Given the description of an element on the screen output the (x, y) to click on. 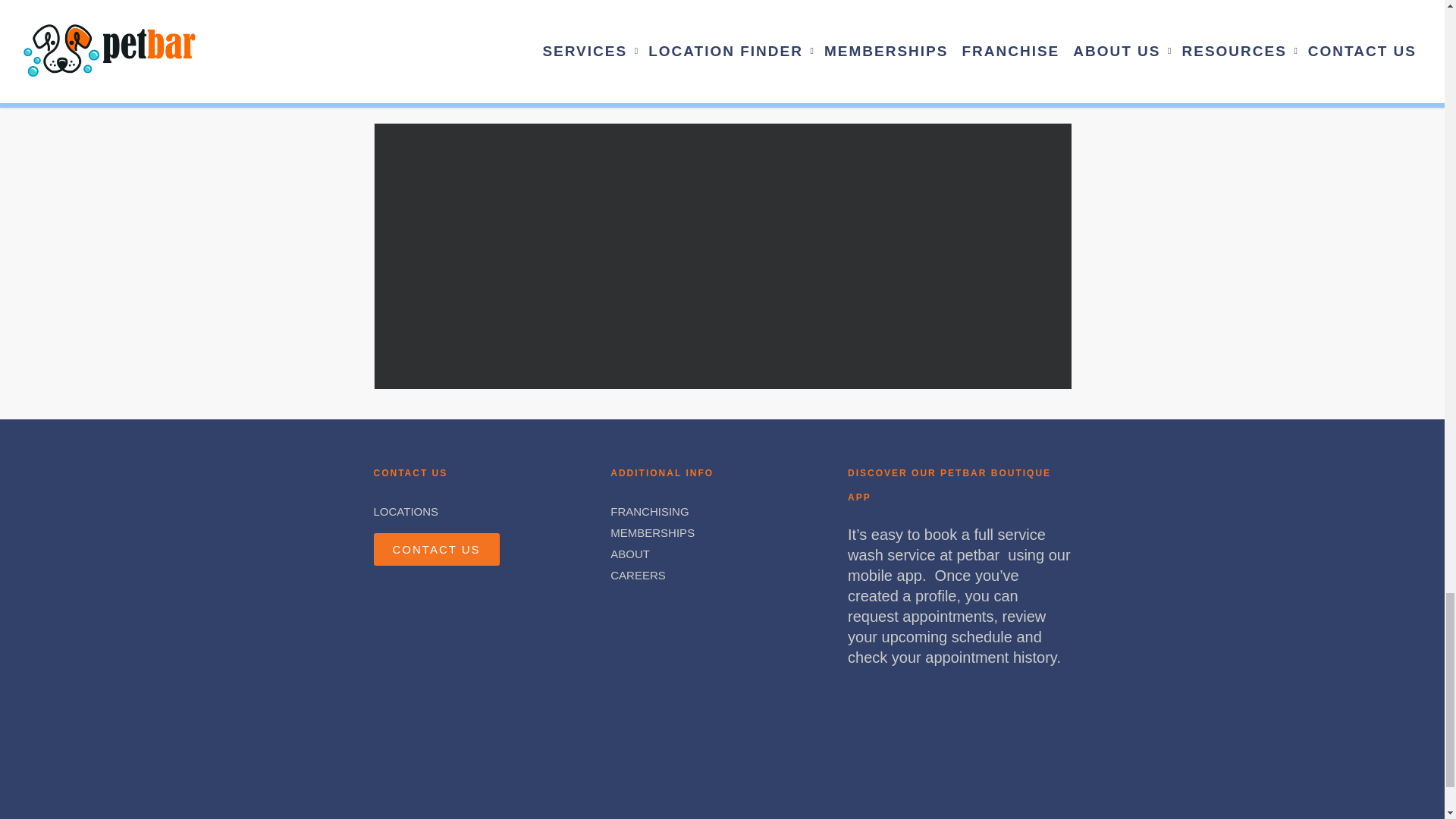
CONTACT US (435, 549)
LOCATIONS (405, 511)
